Given the description of an element on the screen output the (x, y) to click on. 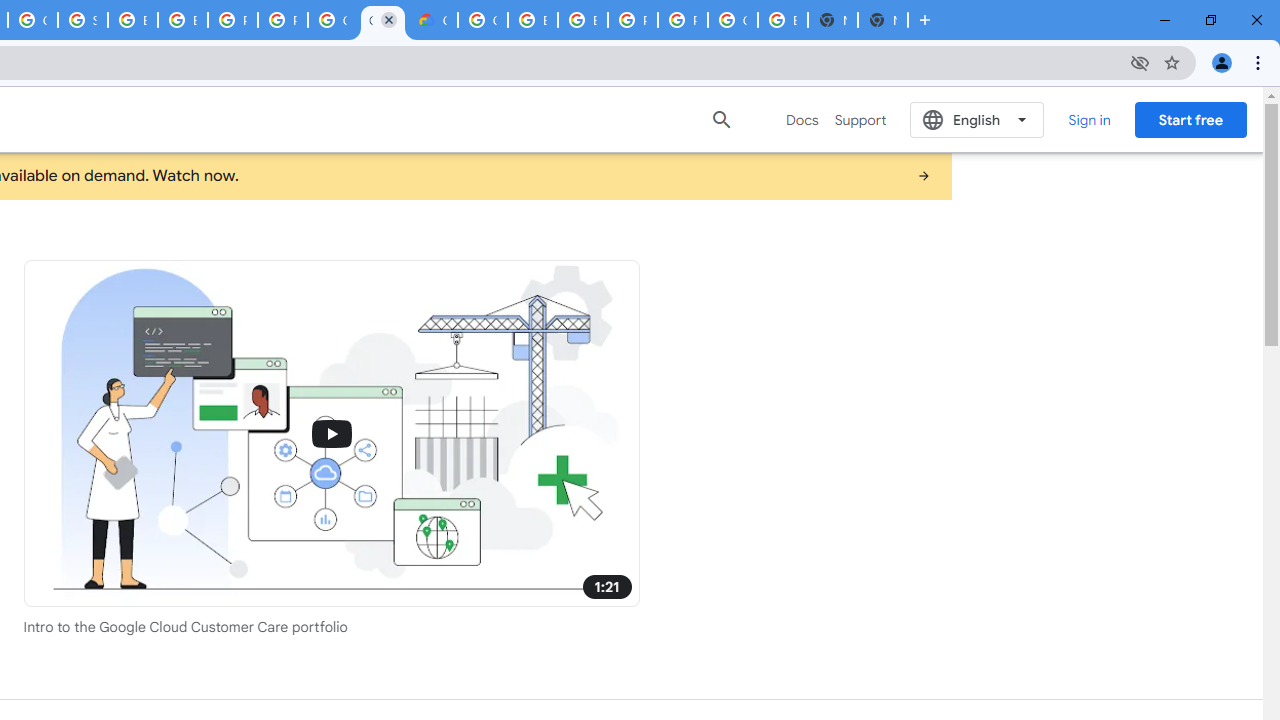
Google Cloud Estimate Summary (433, 20)
Support (860, 119)
Browse Chrome as a guest - Computer - Google Chrome Help (182, 20)
Start free (1190, 119)
Support illustration (331, 432)
Google Cloud Platform (483, 20)
